Given the description of an element on the screen output the (x, y) to click on. 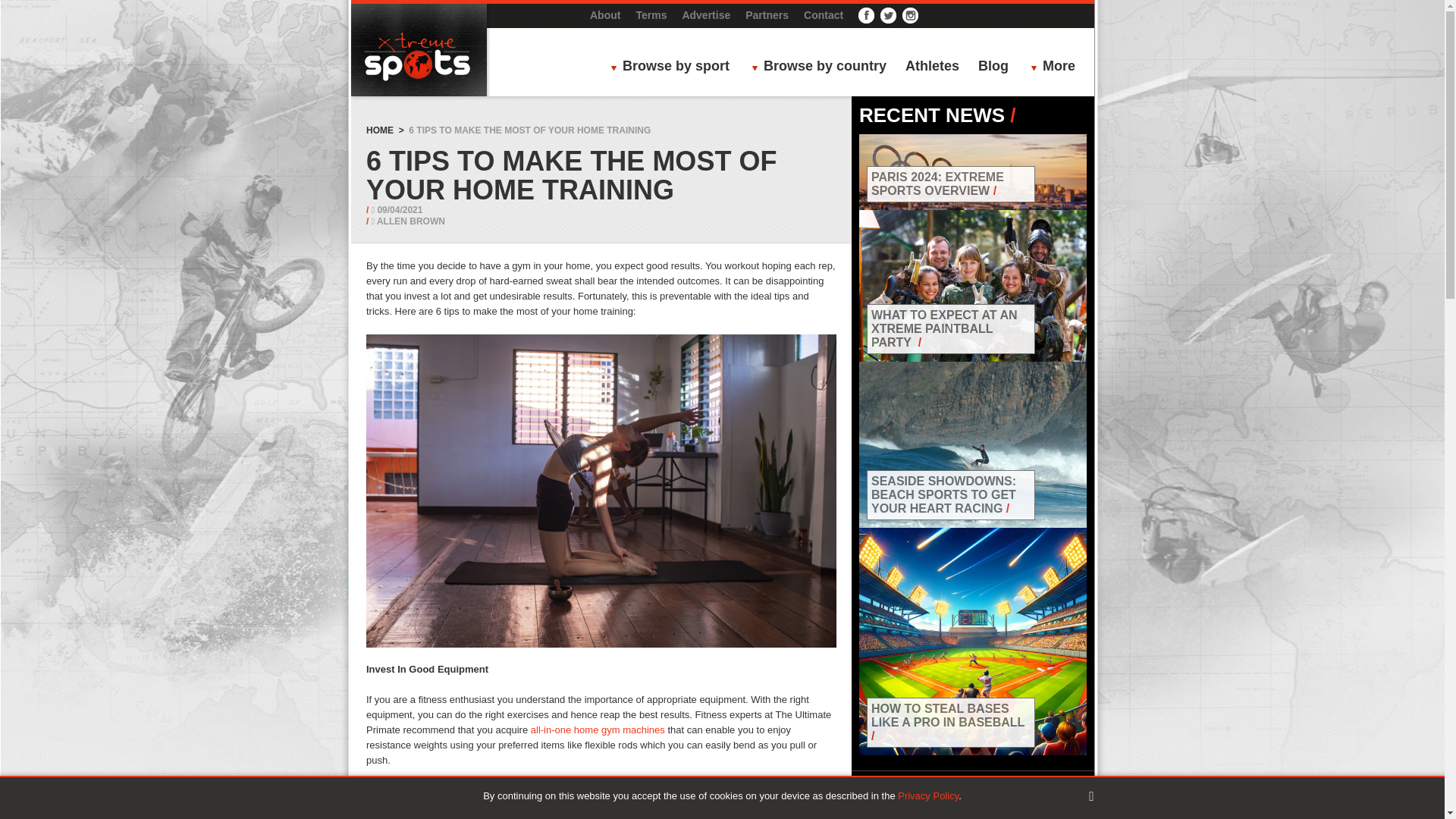
Advertise (705, 15)
SEASIDE SHOWDOWNS: BEACH SPORTS TO GET YOUR HEART RACING (943, 495)
Contact (823, 15)
Blog (993, 67)
Partners (767, 15)
About (604, 15)
Athletes (932, 67)
More (1056, 67)
all-in-one home gym machines (598, 728)
WHAT TO EXPECT AT AN XTREME PAINTBALL PARTY  (943, 328)
